Given the description of an element on the screen output the (x, y) to click on. 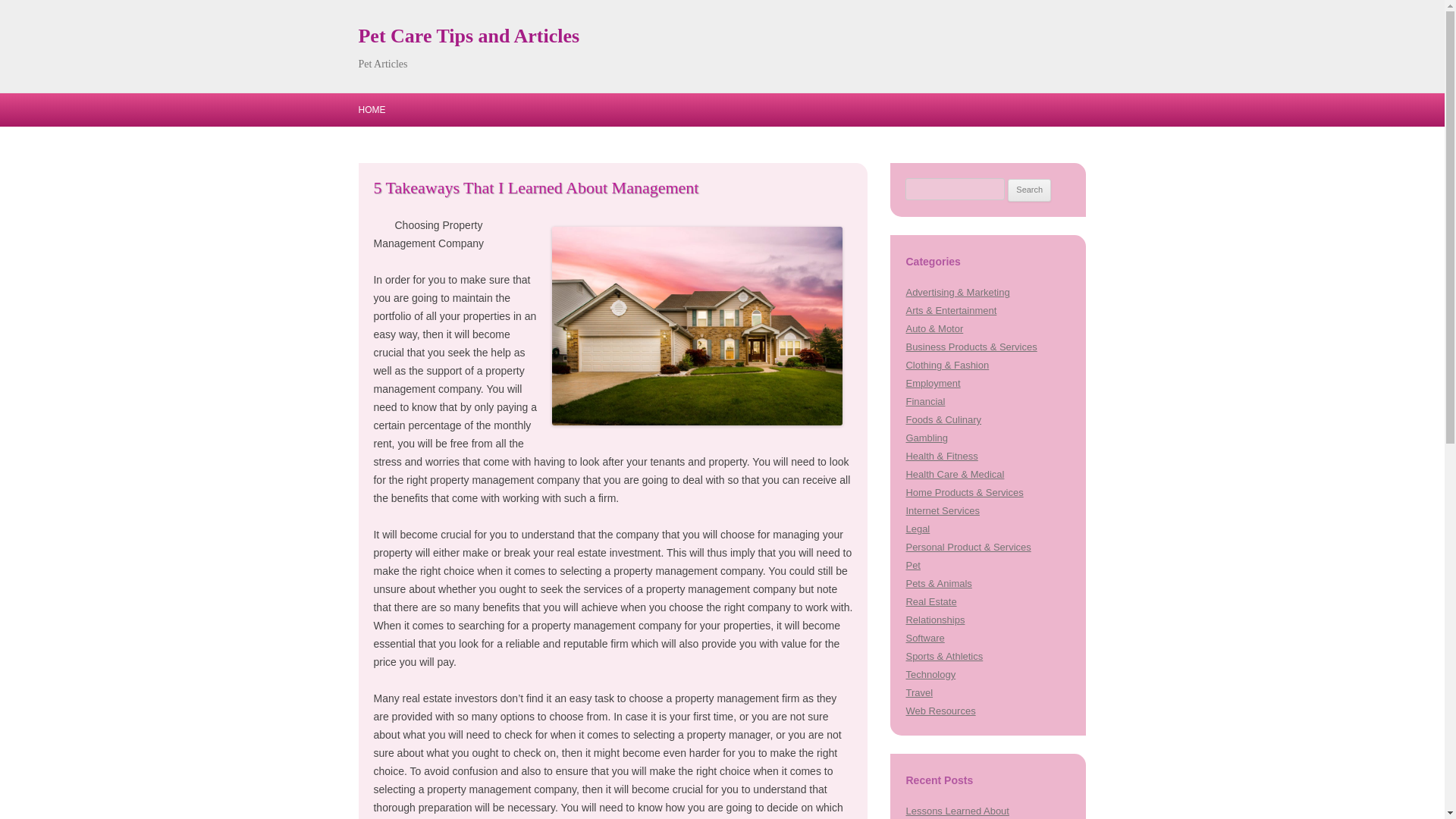
Gambling (926, 437)
Pet Care Tips and Articles (468, 36)
Search (1029, 190)
Technology (930, 674)
Real Estate (930, 601)
Lessons Learned About (957, 810)
Search (1029, 190)
Web Resources (940, 710)
